Given the description of an element on the screen output the (x, y) to click on. 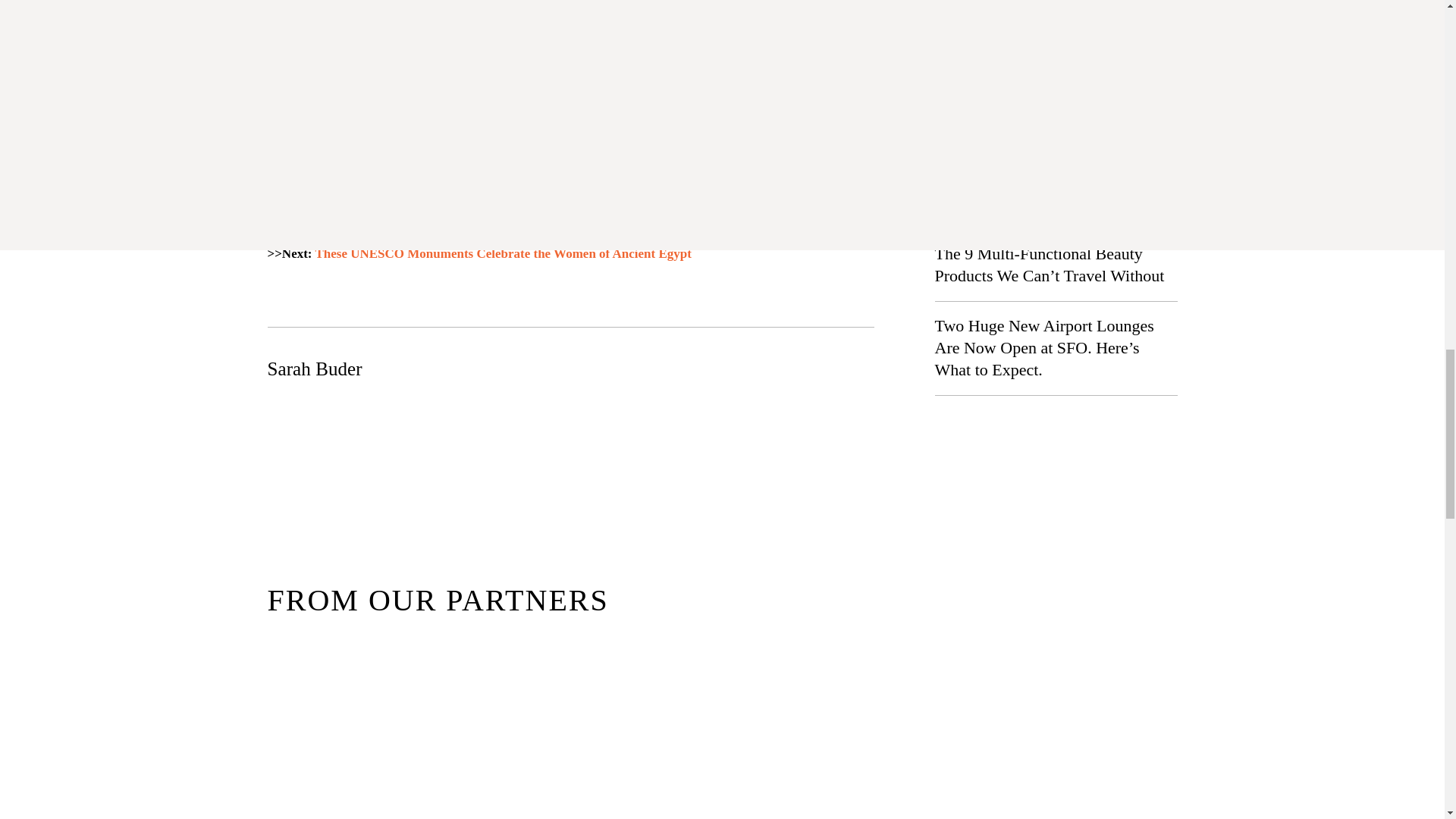
3rd party ad content (721, 490)
3rd party ad content (569, 146)
